Given the description of an element on the screen output the (x, y) to click on. 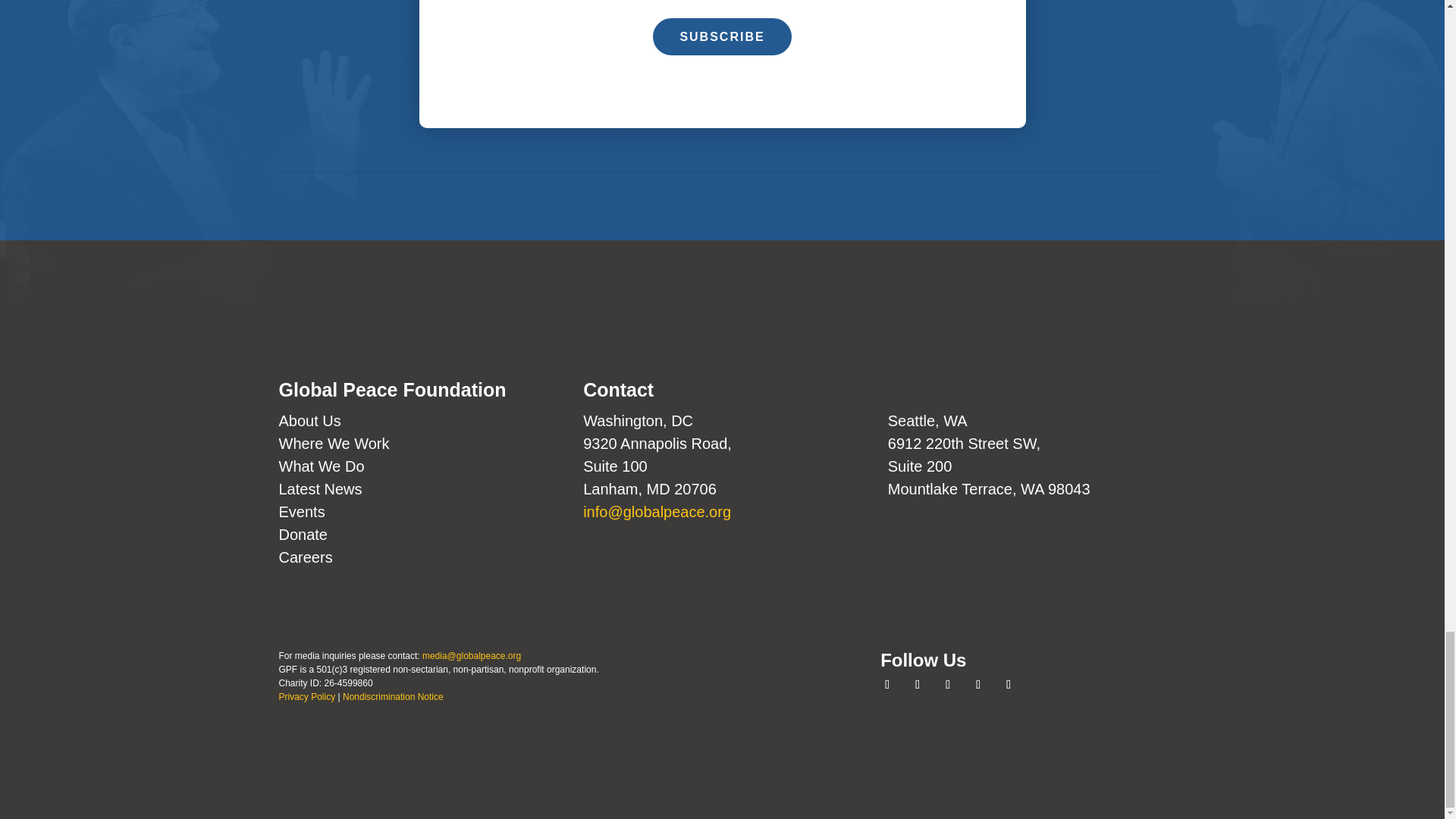
Follow on Facebook (887, 684)
